Given the description of an element on the screen output the (x, y) to click on. 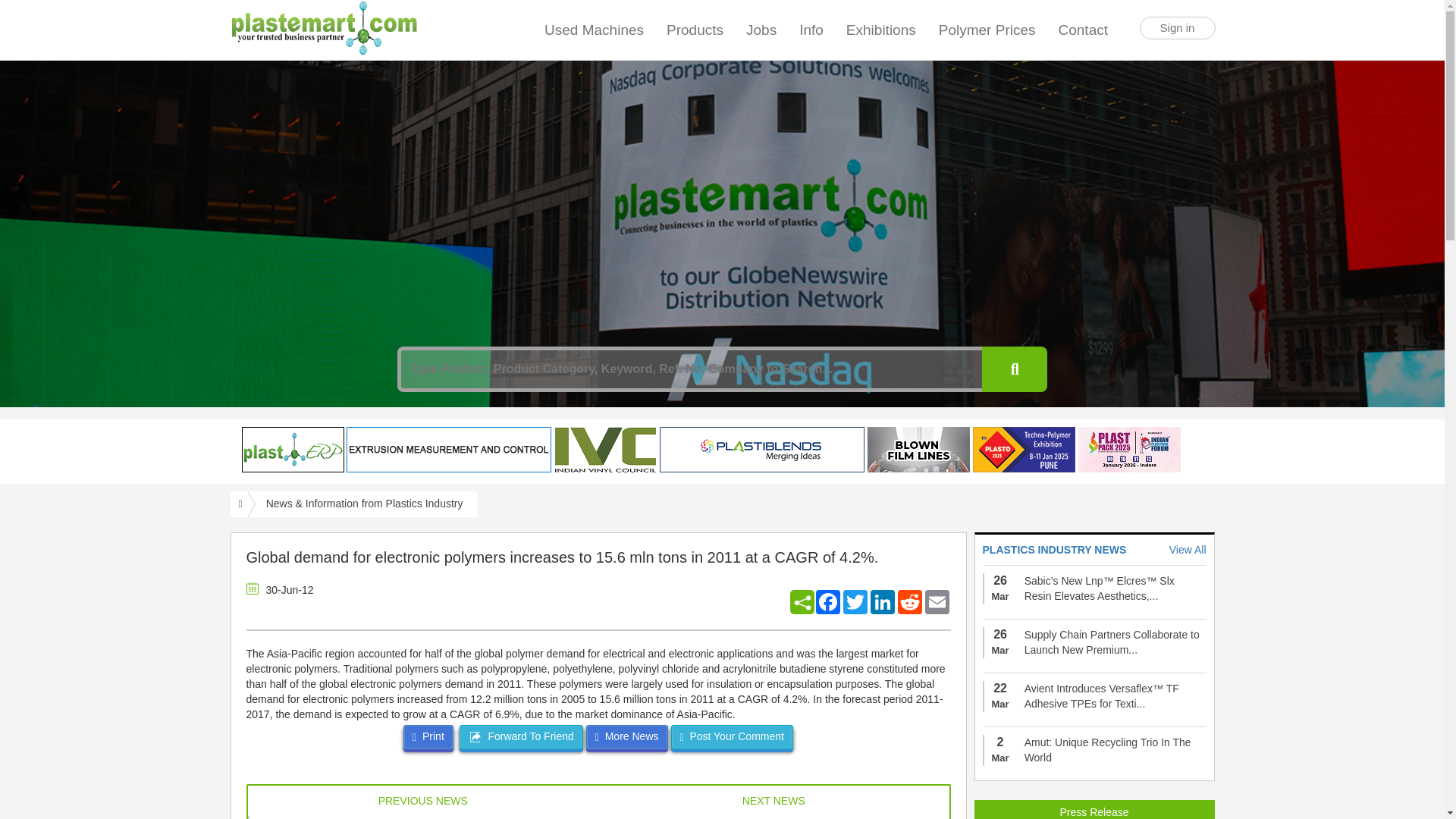
Contact (1084, 22)
Products (695, 30)
Manufacturer and supplier of plastic products (695, 30)
Exhibitions (880, 30)
The worlds largest B2B portal for Plastics Industry (323, 28)
plastiblends-masterbatches (761, 449)
Plast Pack 2025 (1129, 449)
Contact Us (1084, 22)
Used Plastic Machines (593, 30)
PVC Polymer prices (986, 30)
Facebook (827, 601)
plasterpHome (292, 449)
Mamata (918, 449)
Polymer Prices (986, 30)
INDIAN VINYL COUNCIL (605, 449)
